Given the description of an element on the screen output the (x, y) to click on. 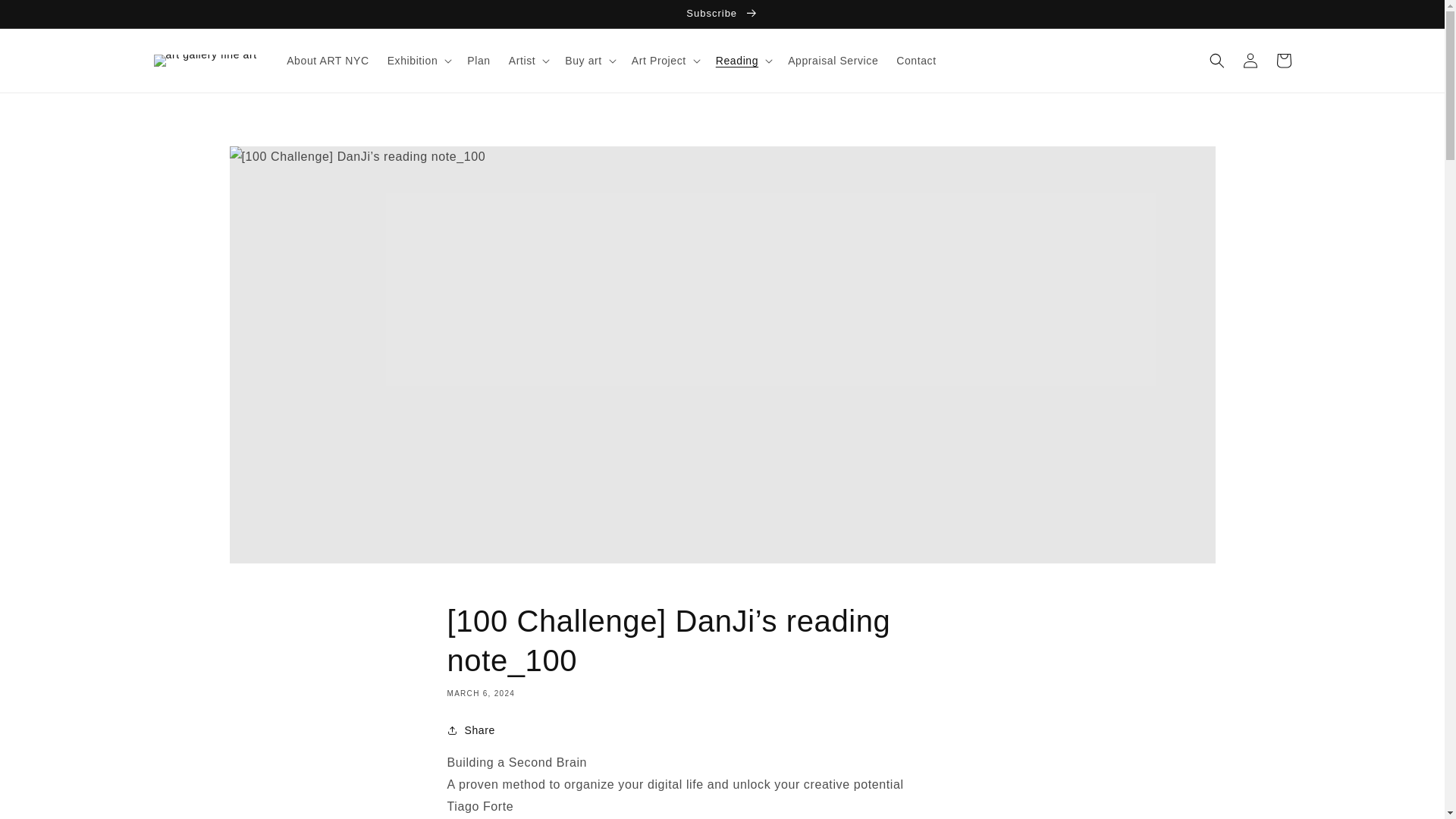
Skip to content (45, 16)
